Given the description of an element on the screen output the (x, y) to click on. 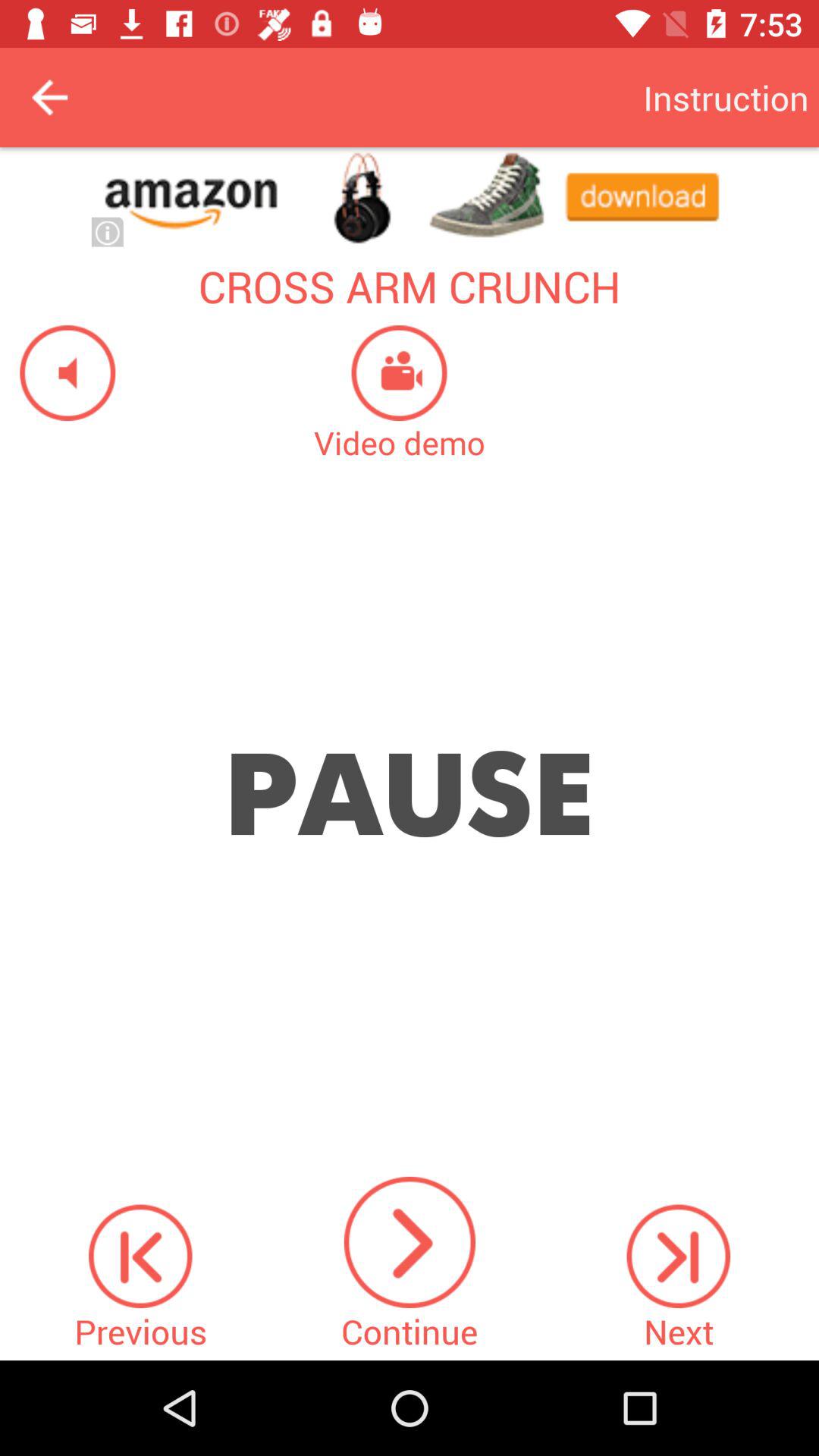
go to the website (409, 196)
